Given the description of an element on the screen output the (x, y) to click on. 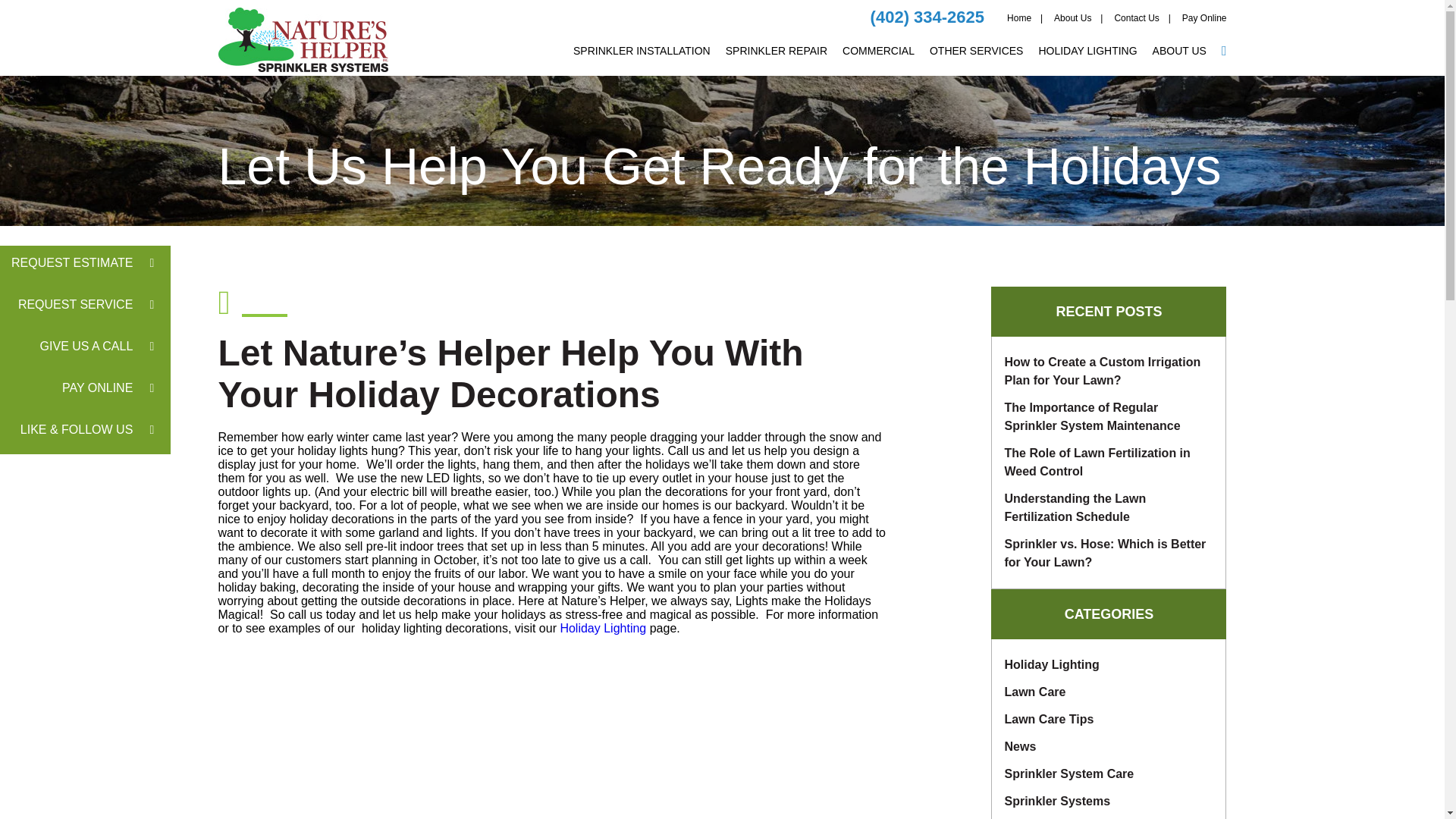
SPRINKLER INSTALLATION (641, 60)
Contact Us (1135, 27)
SPRINKLER REPAIR (776, 60)
ABOUT US (1180, 60)
HOLIDAY LIGHTING (1087, 60)
About Us (1072, 27)
OTHER SERVICES (976, 60)
COMMERCIAL (878, 60)
Pay Online (1204, 27)
